Given the description of an element on the screen output the (x, y) to click on. 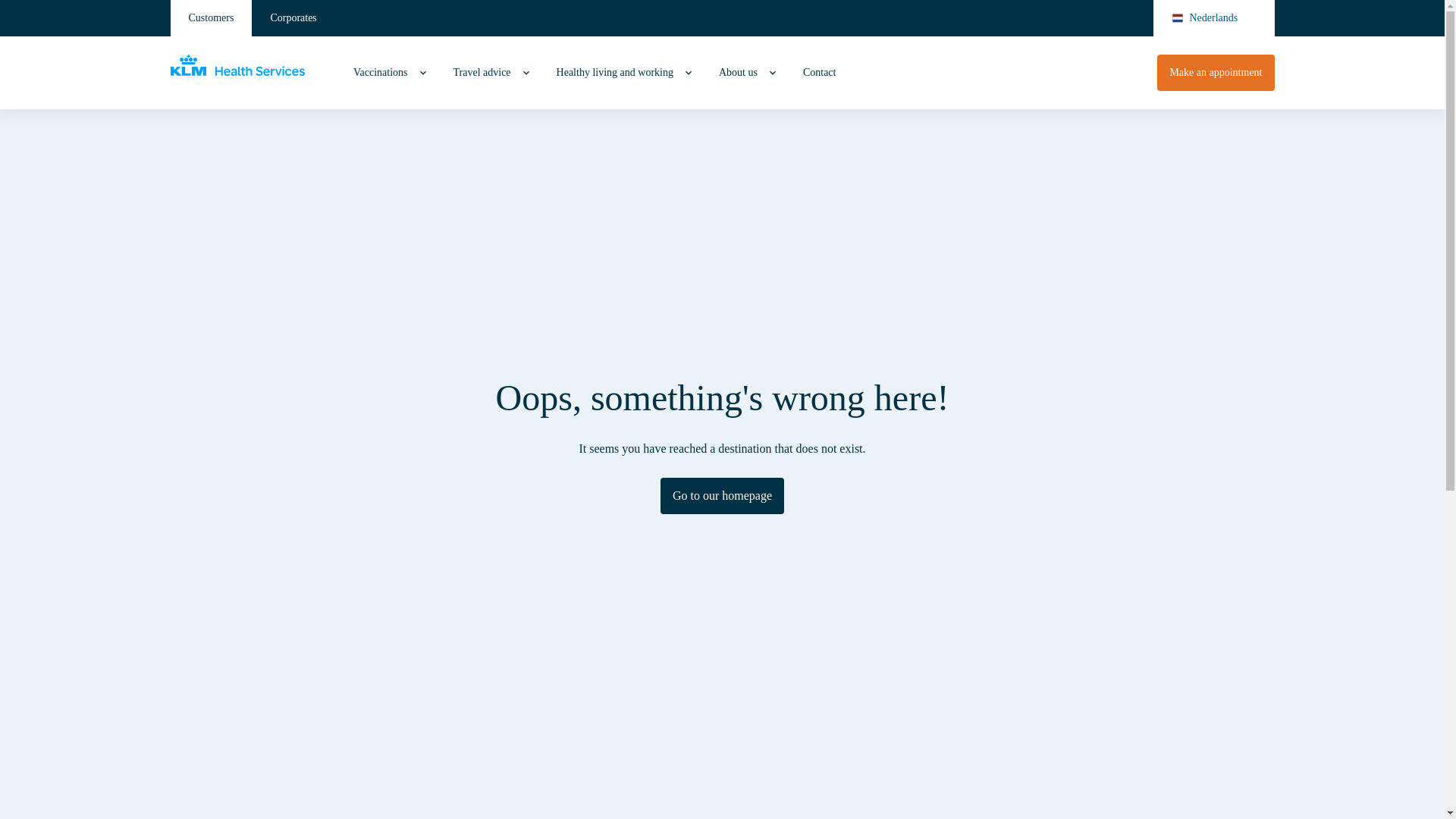
Vaccinations (380, 72)
Contact (819, 72)
Customers (210, 18)
Corporates (292, 18)
Travel advice (481, 72)
About us (738, 72)
Healthy living and working (614, 72)
Nederlands (1213, 18)
